Given the description of an element on the screen output the (x, y) to click on. 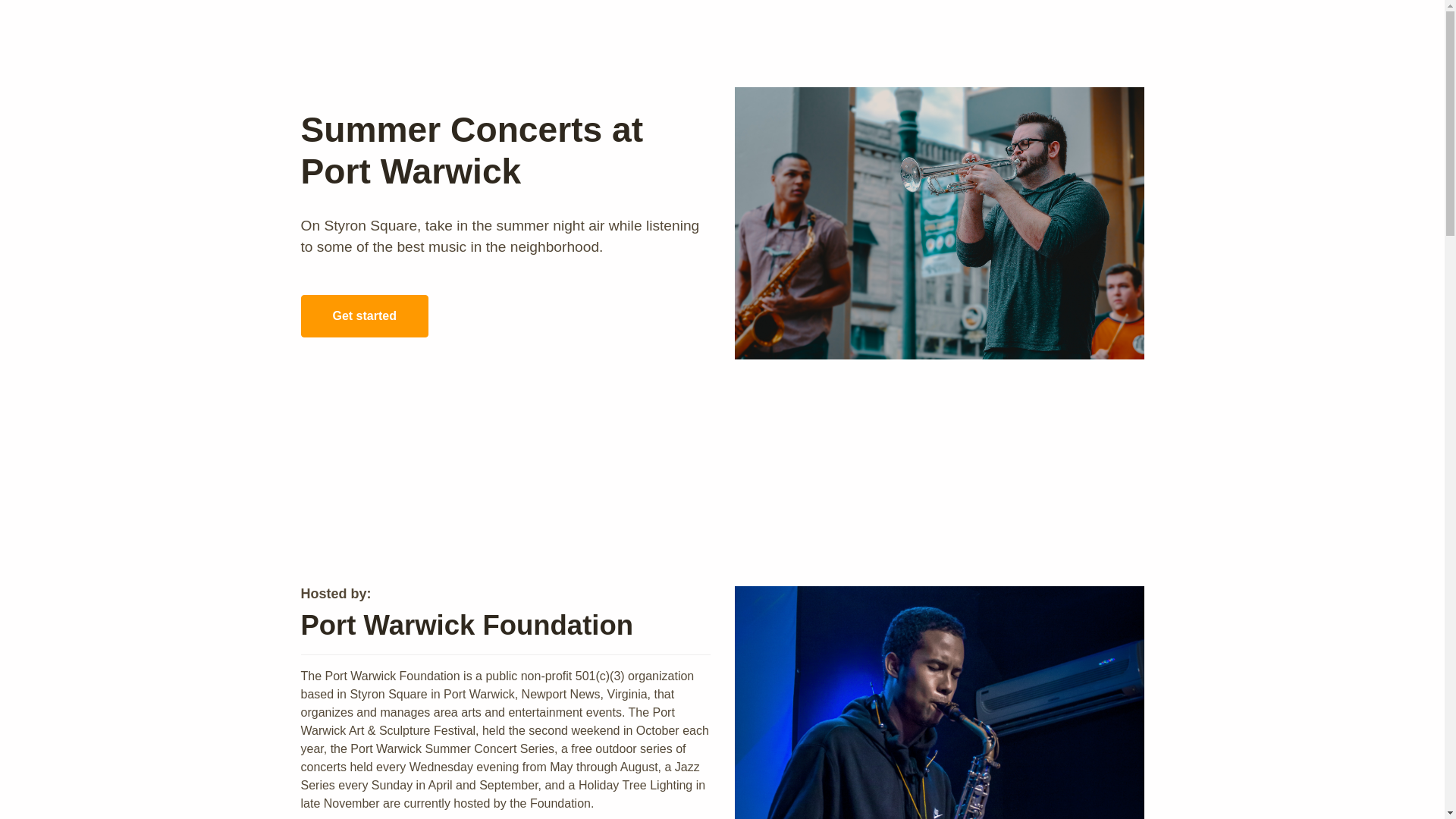
Get started (363, 315)
